Given the description of an element on the screen output the (x, y) to click on. 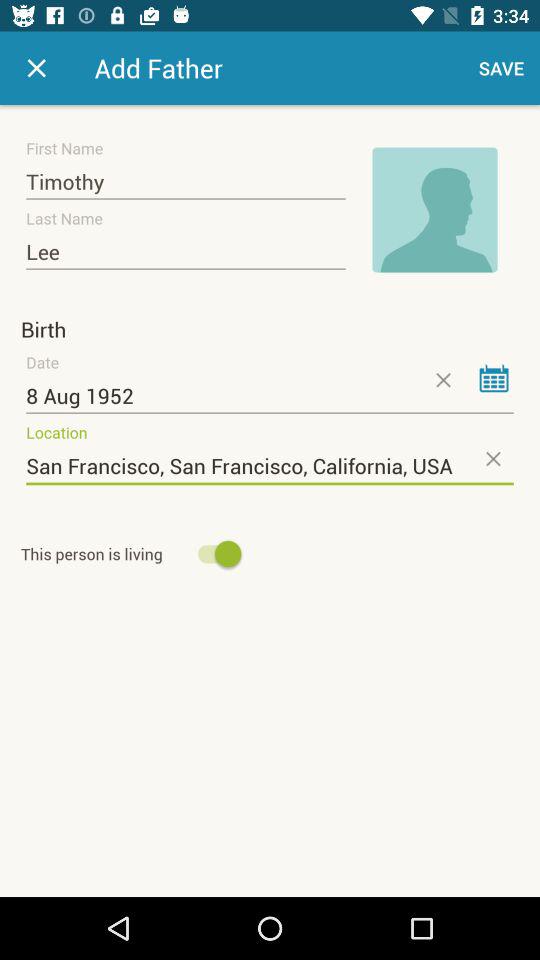
select date from calendar (494, 378)
